Given the description of an element on the screen output the (x, y) to click on. 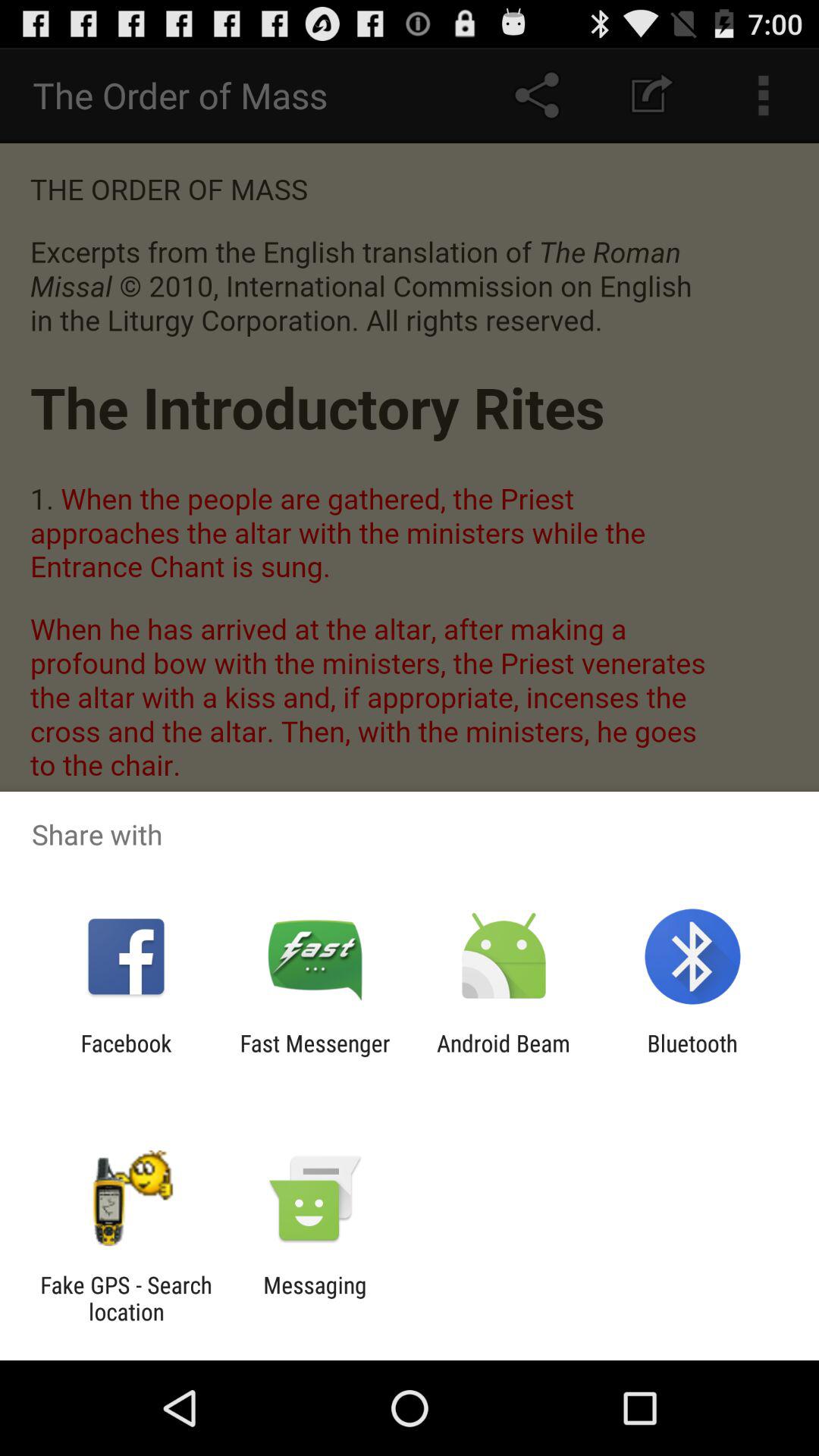
turn on app to the right of the facebook (315, 1056)
